Given the description of an element on the screen output the (x, y) to click on. 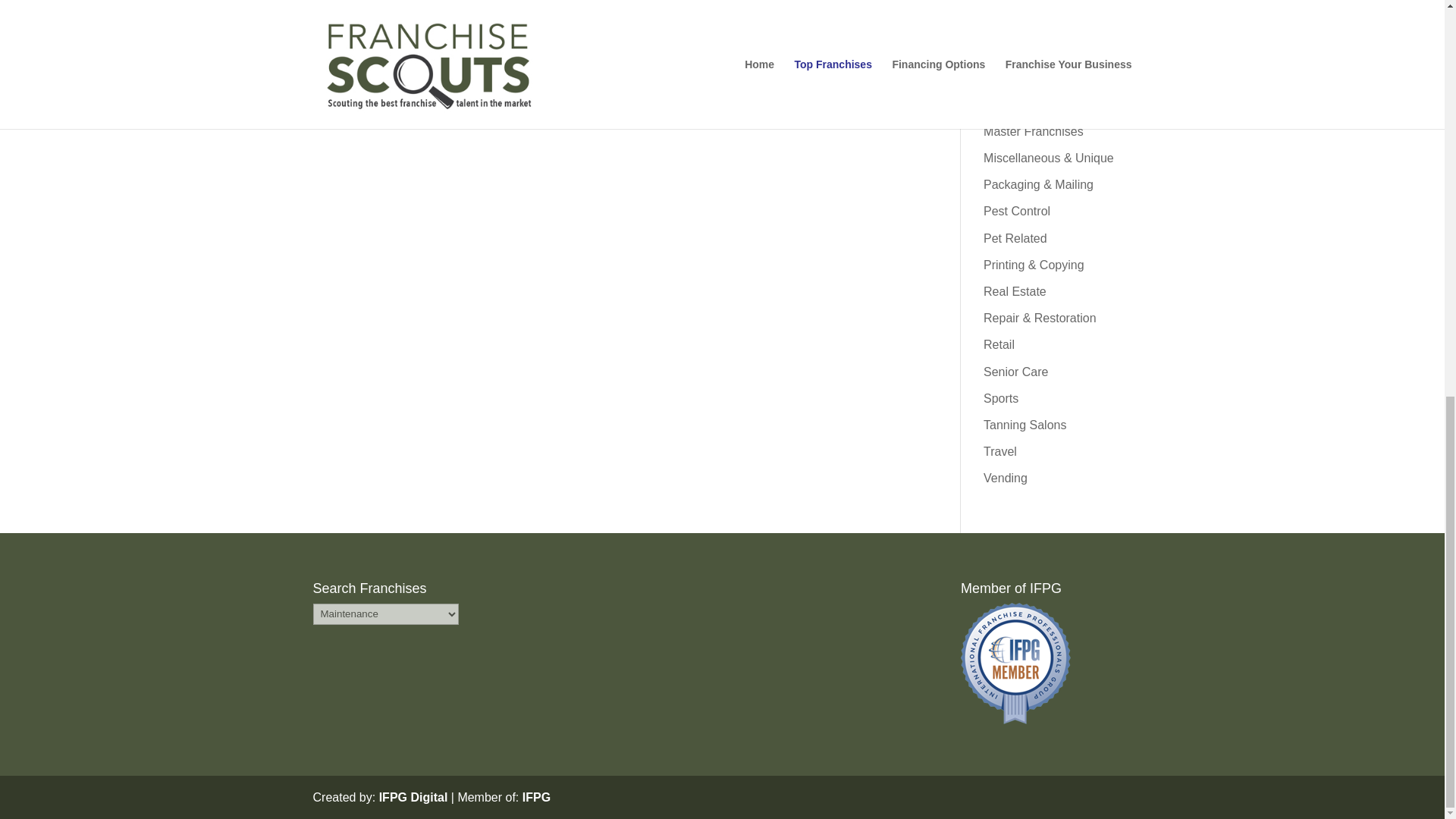
Request Info (546, 61)
Creative Colors International (744, 61)
City Wide (347, 61)
Request Info (347, 61)
Request Info (744, 61)
College Hunks Hauling Junk (546, 61)
